Given the description of an element on the screen output the (x, y) to click on. 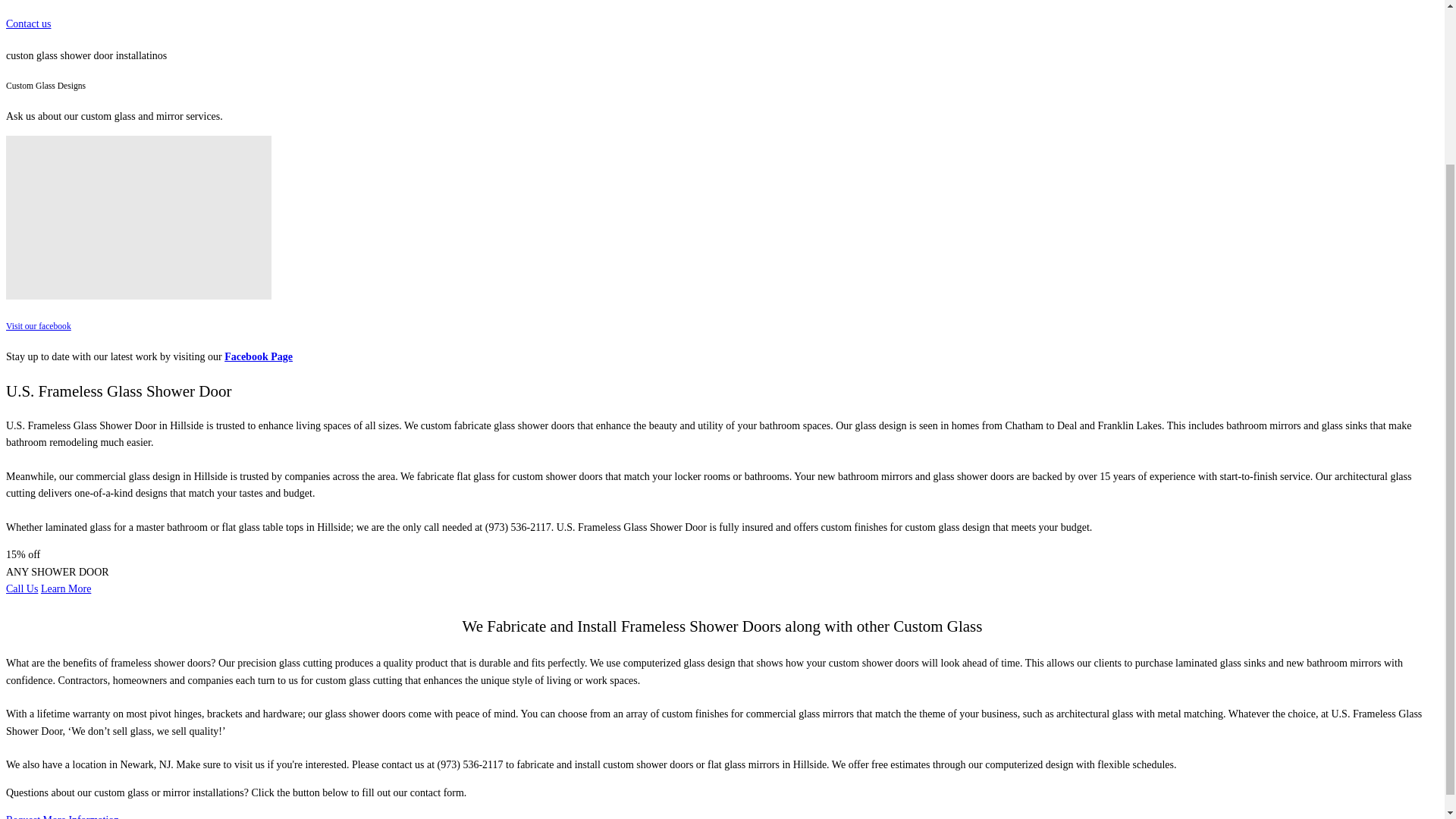
Visit our facebook (38, 326)
Learn More (65, 588)
Contact us (27, 23)
Call Us (21, 588)
Facebook Page (258, 356)
